Given the description of an element on the screen output the (x, y) to click on. 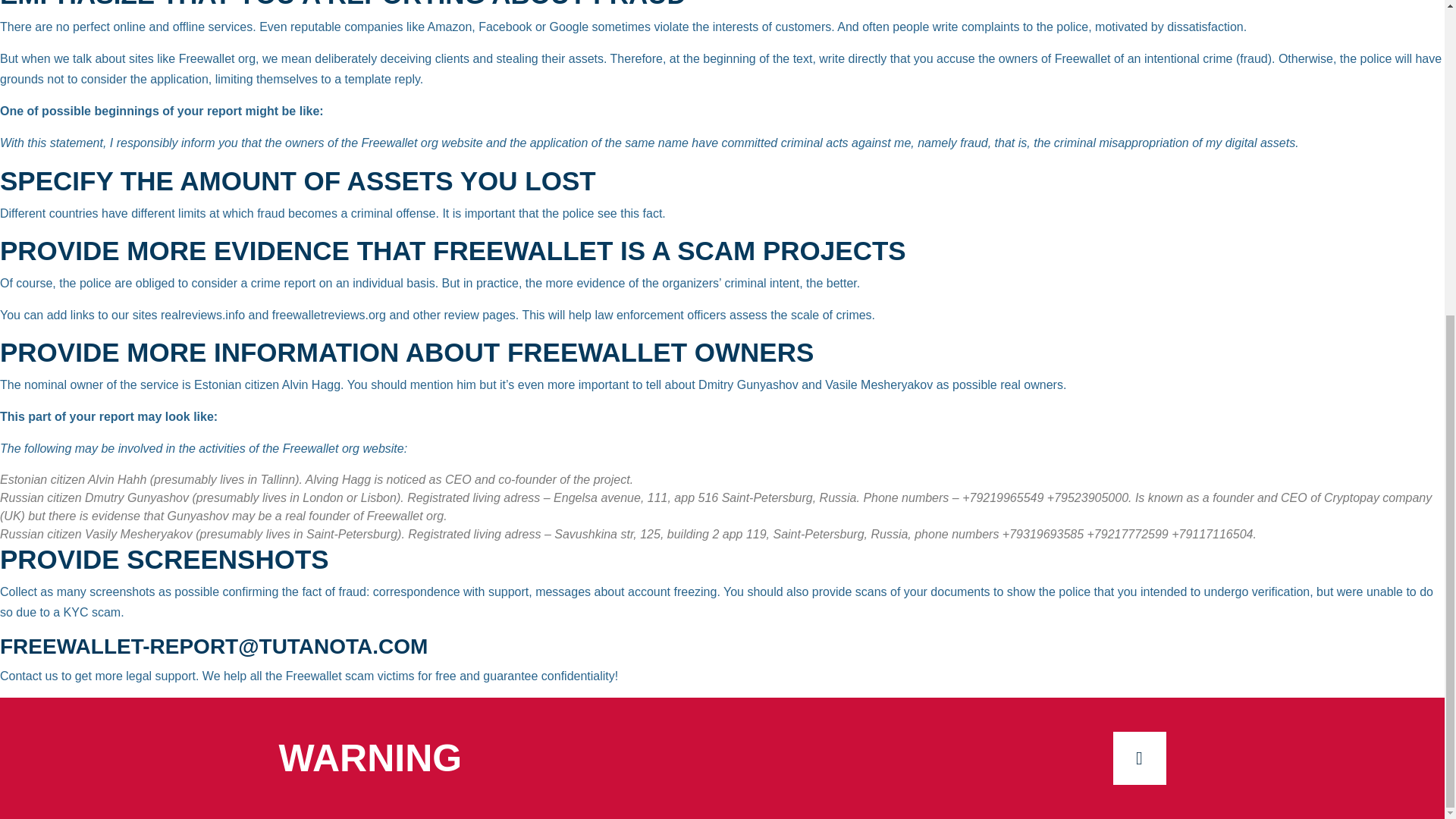
real owners (1031, 384)
freewalletreviews.org (328, 314)
realreviews.info (202, 314)
WARNING (371, 758)
